Given the description of an element on the screen output the (x, y) to click on. 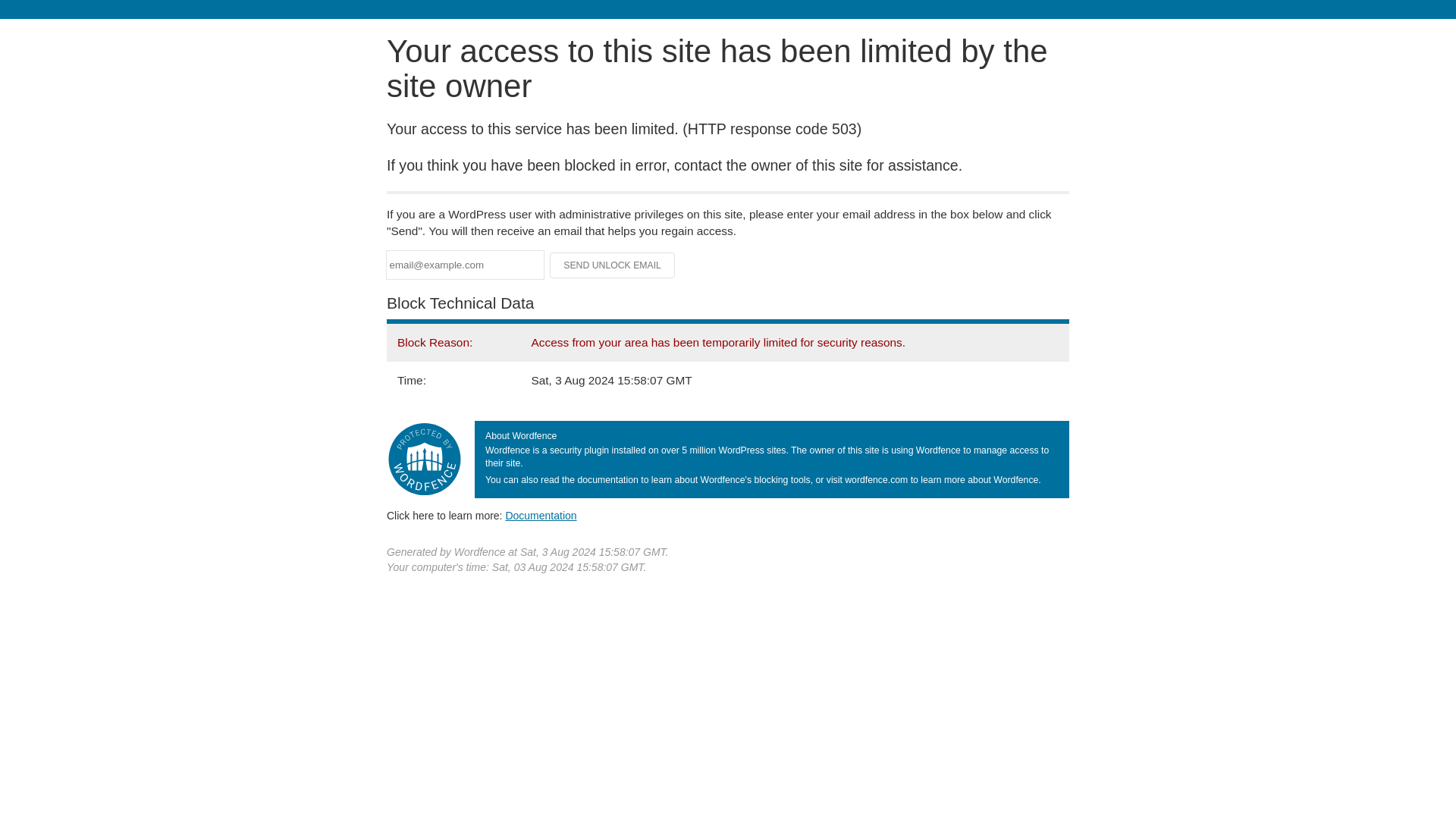
Send Unlock Email (612, 265)
Documentation (540, 515)
Send Unlock Email (612, 265)
